Given the description of an element on the screen output the (x, y) to click on. 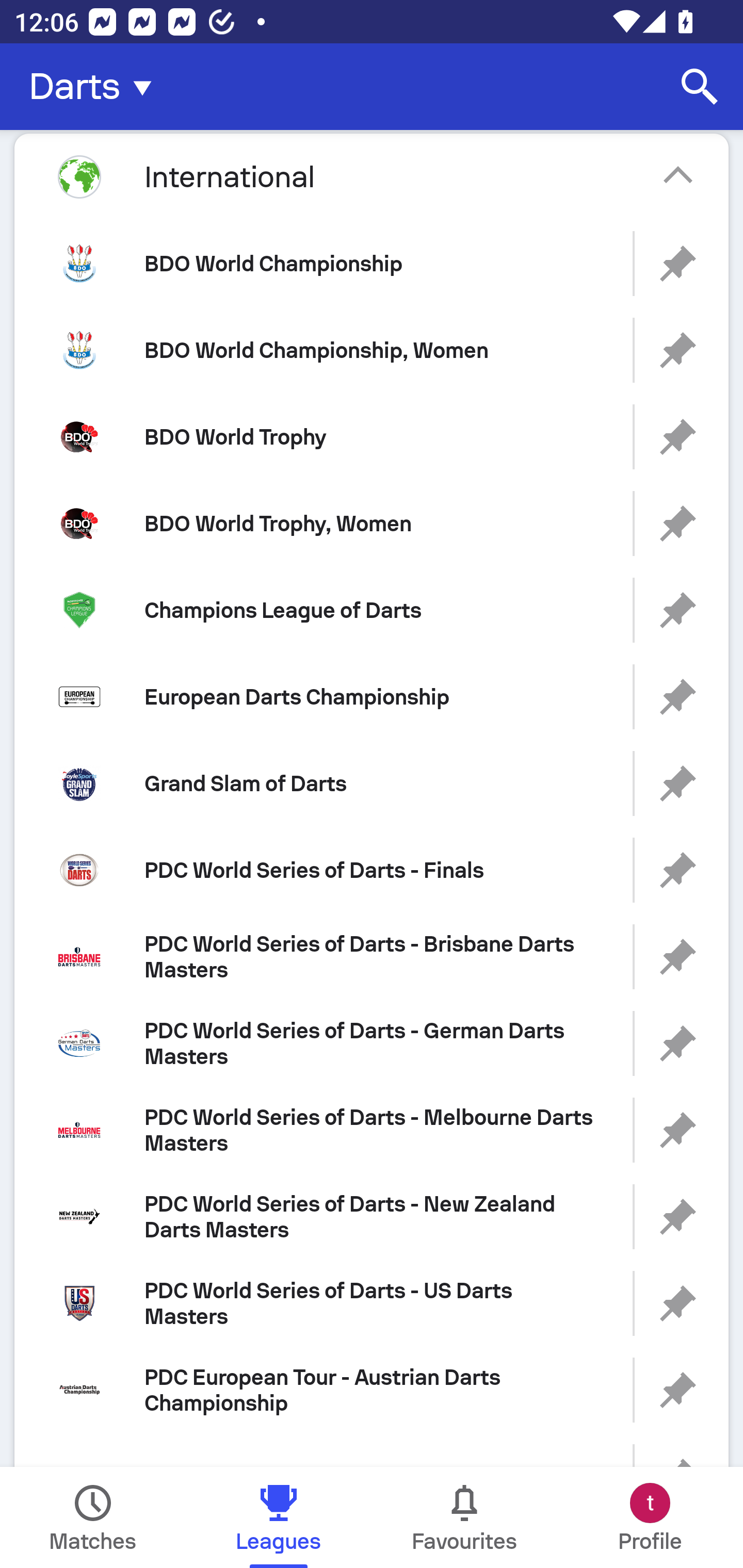
Darts (96, 86)
Search (699, 86)
International (371, 176)
BDO World Championship (371, 263)
BDO World Championship, Women (371, 350)
BDO World Trophy (371, 436)
BDO World Trophy, Women (371, 523)
Champions League of Darts (371, 610)
European Darts Championship (371, 696)
Grand Slam of Darts (371, 783)
PDC World Series of Darts - Finals (371, 870)
PDC World Series of Darts - Brisbane Darts Masters (371, 957)
PDC World Series of Darts - German Darts Masters (371, 1043)
PDC World Series of Darts - US Darts Masters (371, 1303)
PDC European Tour - Austrian Darts Championship (371, 1389)
Matches (92, 1517)
Favourites (464, 1517)
Profile (650, 1517)
